Given the description of an element on the screen output the (x, y) to click on. 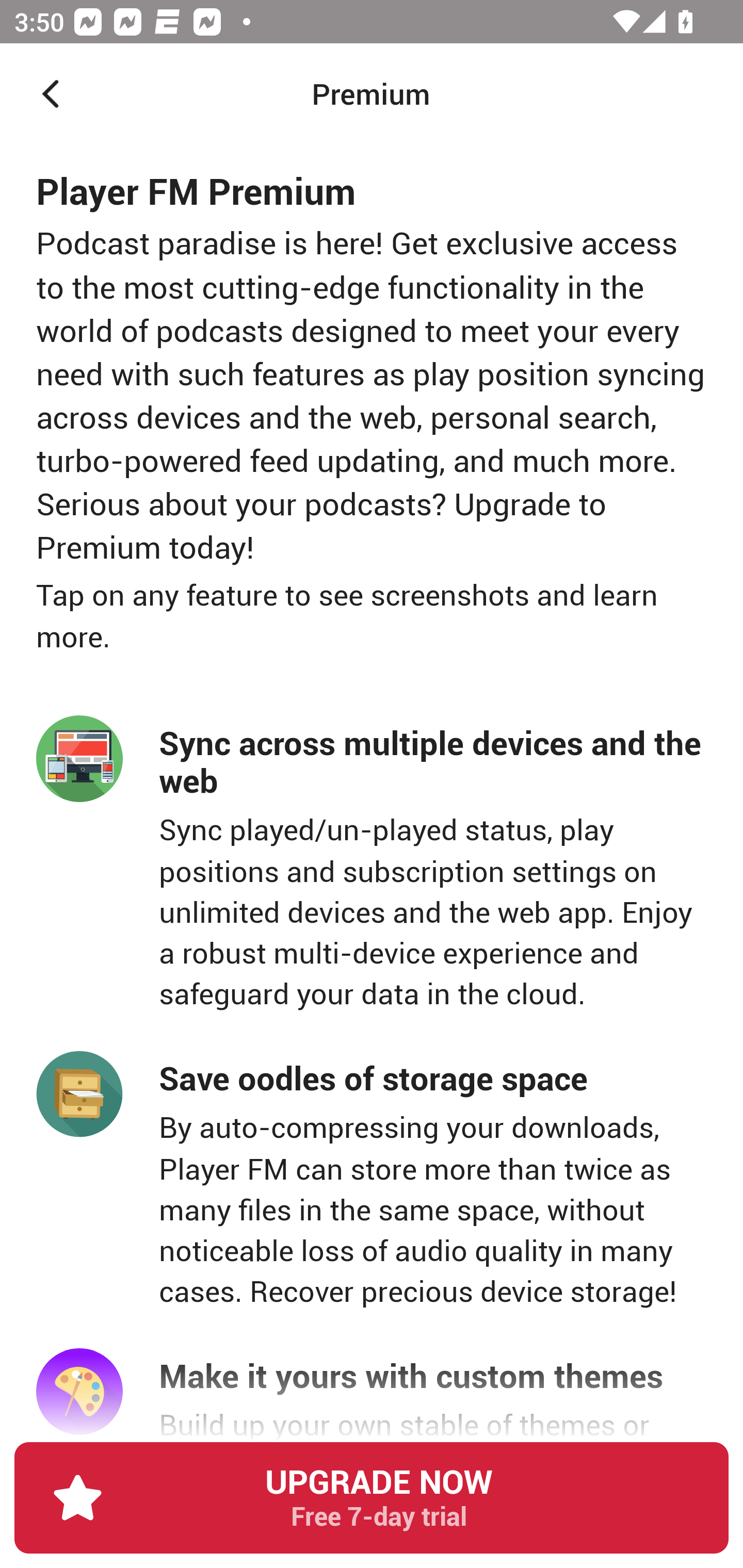
Navigate up (50, 93)
Upgrade Now UPGRADE NOW
Free 7-day trial (371, 1505)
